Given the description of an element on the screen output the (x, y) to click on. 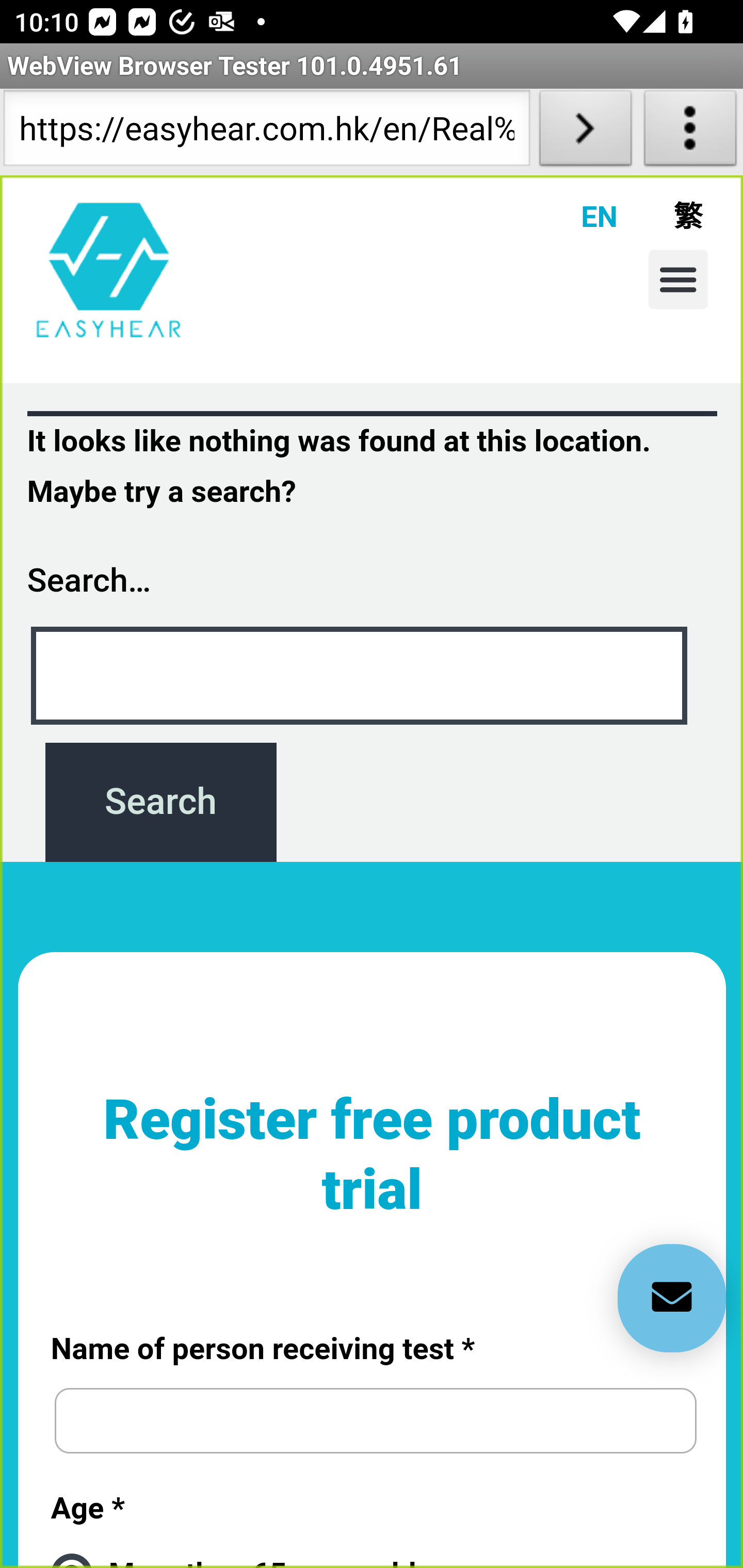
https://easyhear.com.hk/en/Real%20Madrid (266, 132)
Load URL (585, 132)
About WebView (690, 132)
EN (574, 215)
繁 (660, 215)
en (109, 269)
Menu Toggle (677, 278)
Search (160, 801)
Register free product trial (372, 1172)
